Given the description of an element on the screen output the (x, y) to click on. 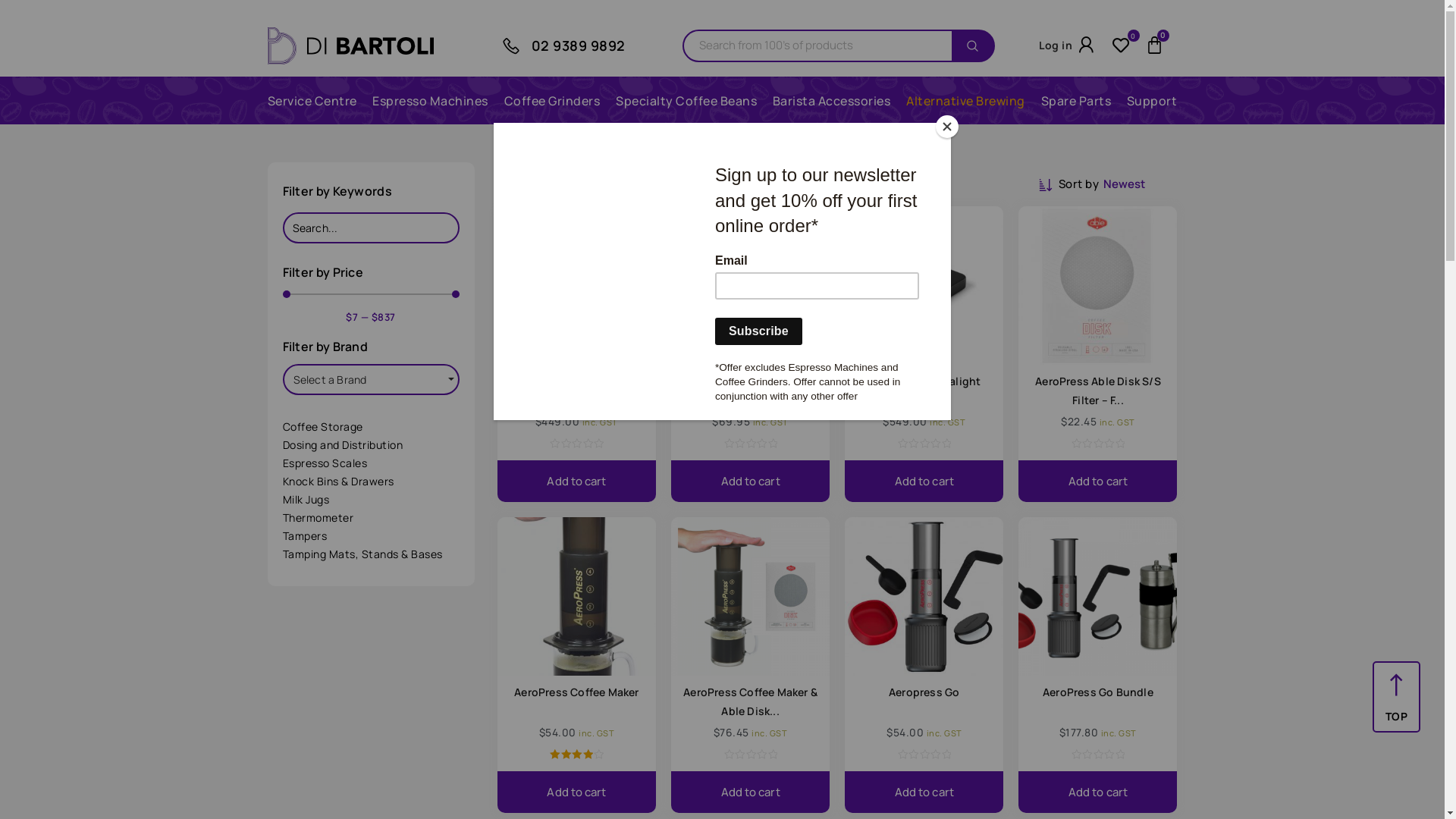
Home Element type: text (512, 184)
Add to cart Element type: text (1097, 481)
Barista Accessories Element type: text (831, 100)
Milk Jugs Element type: text (370, 499)
Add to cart Element type: text (750, 481)
Acaia Lunar Weighing Plate Element type: text (750, 380)
Tampers Element type: text (370, 536)
Alternative Brewing Element type: text (965, 100)
Coffee Grinders Element type: text (552, 100)
Add to cart Element type: text (923, 481)
Products Element type: text (562, 184)
Thermometer Element type: text (370, 517)
Knock Bins & Drawers Element type: text (370, 481)
AeroPress Go Bundle Element type: text (1097, 691)
Coffee Storage Element type: text (370, 426)
02 9389 9892 Element type: text (577, 45)
Add to cart Element type: text (750, 791)
Acaia Pyxis Ultralight Scale Element type: text (923, 390)
0 Element type: text (1124, 45)
Add to cart Element type: text (1097, 791)
Aeropress Go Element type: text (923, 691)
Log in Element type: text (1055, 44)
Add to cart Element type: text (923, 791)
Add to cart Element type: text (576, 481)
Service Centre Element type: text (311, 100)
AeroPress Coffee Maker Element type: text (576, 691)
Spare Parts Element type: text (1076, 100)
Dosing and Distribution Element type: text (370, 445)
Tamping Mats, Stands & Bases Element type: text (370, 554)
Specialty Coffee Beans Element type: text (685, 100)
Support Element type: text (1151, 100)
Espresso Scales Element type: text (370, 463)
Add to cart Element type: text (576, 791)
Espresso Machines Element type: text (430, 100)
AeroPress Coffee Maker & Able Disk... Element type: text (750, 701)
Acaia Lunar Scale Element type: text (576, 380)
TOP Element type: text (1395, 716)
